Given the description of an element on the screen output the (x, y) to click on. 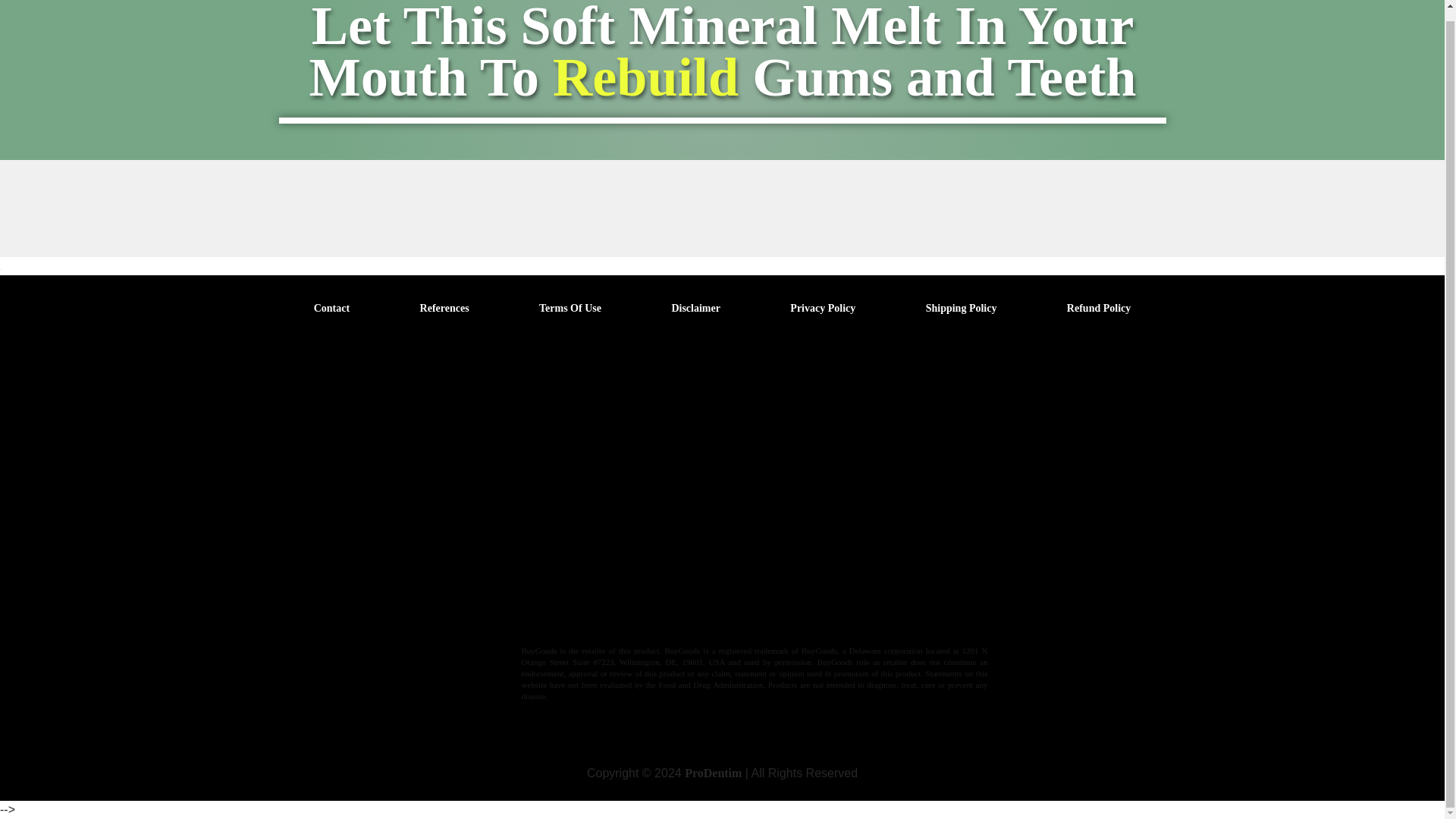
Contact (331, 307)
Privacy Policy (823, 307)
Terms Of Use (569, 307)
Refund Policy (1099, 307)
Disclaimer (695, 307)
Shipping Policy (961, 307)
Read more here (659, 617)
References (444, 307)
